Given the description of an element on the screen output the (x, y) to click on. 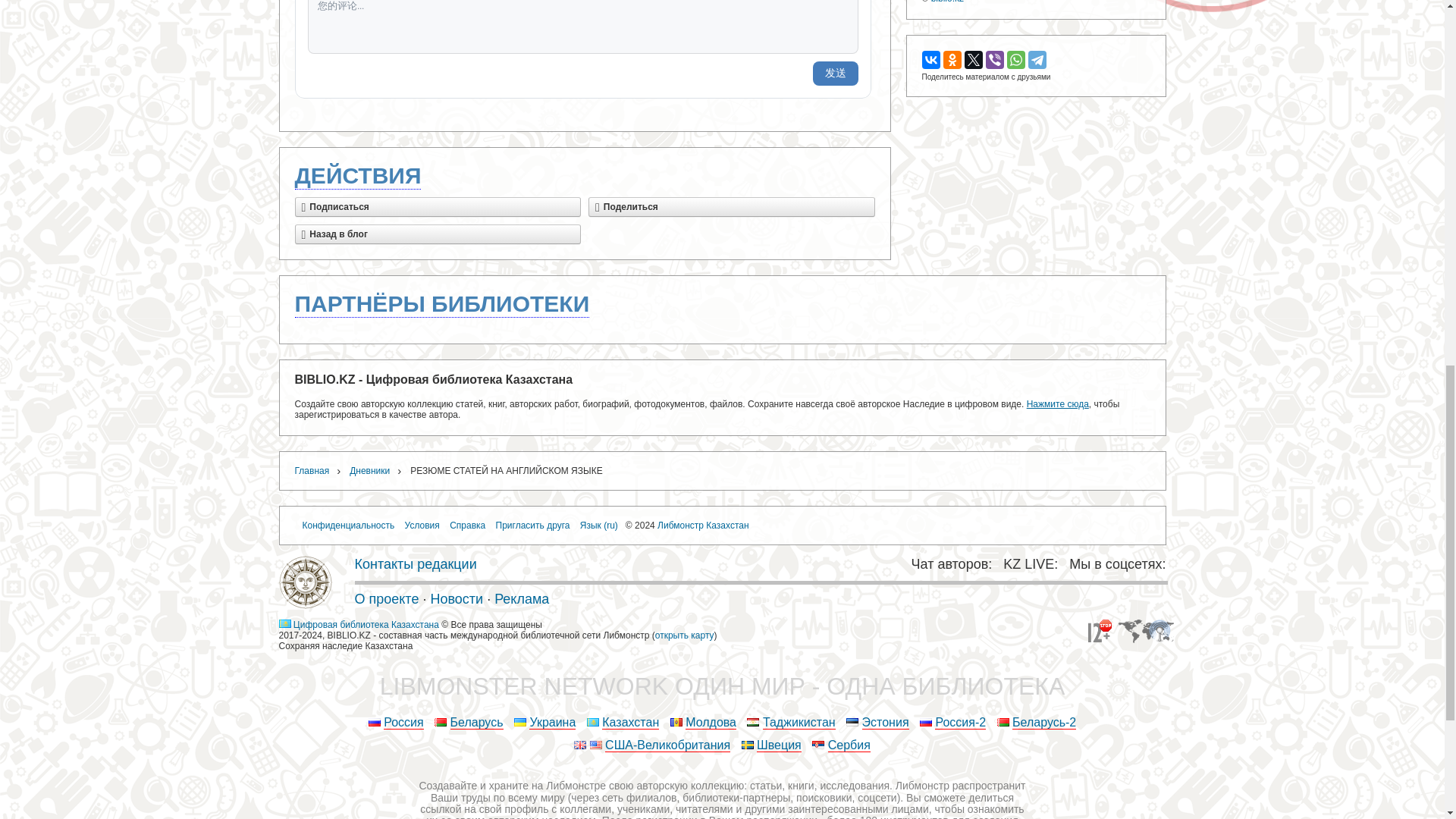
Viber (994, 59)
Twitter (972, 59)
Telegram (1036, 59)
WhatsApp (1016, 59)
